Given the description of an element on the screen output the (x, y) to click on. 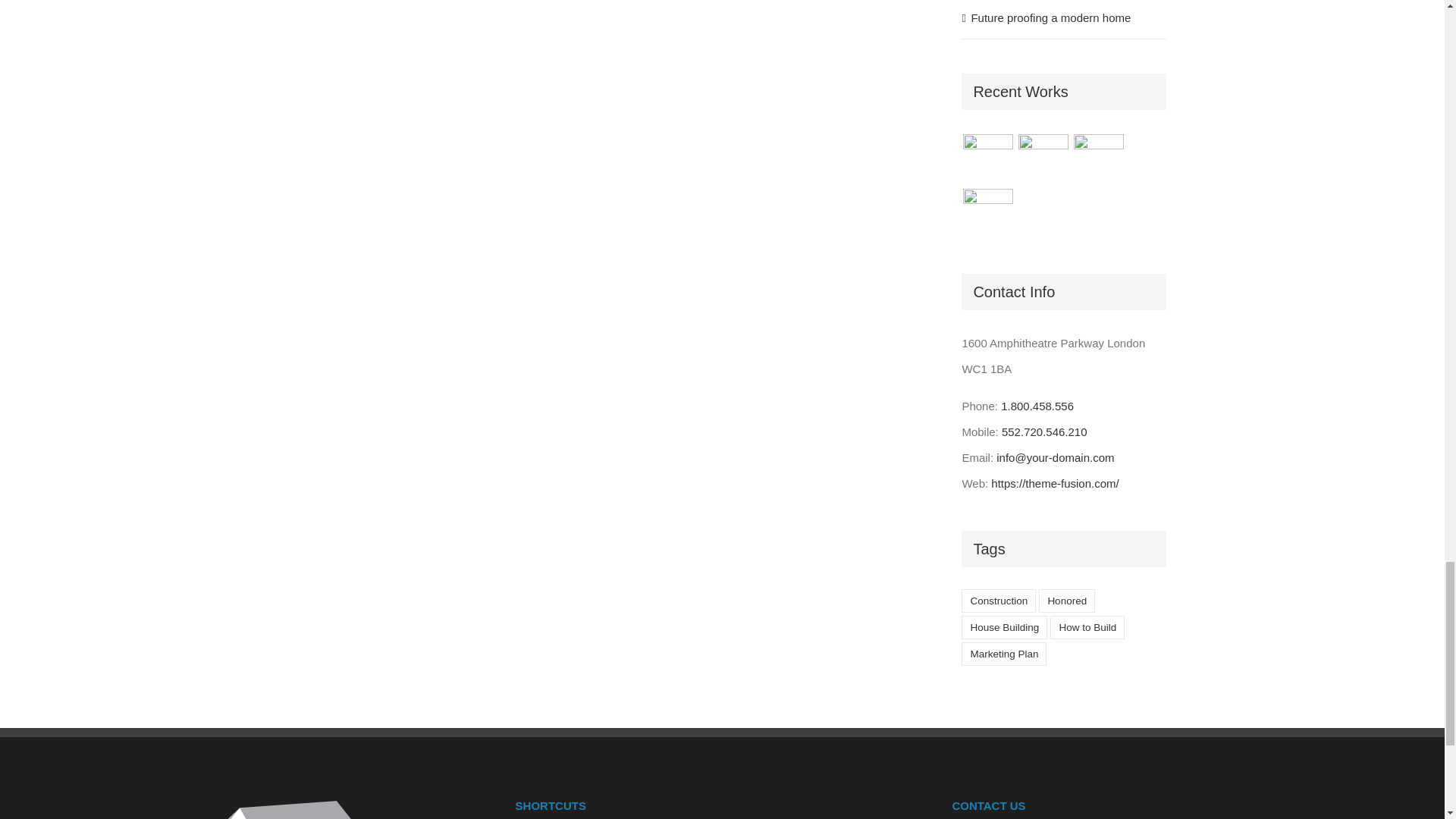
Denver Facility (986, 157)
Maine Modernity (1043, 157)
Exclusive Urban Living (1099, 157)
Blue Concrete House (986, 212)
